Given the description of an element on the screen output the (x, y) to click on. 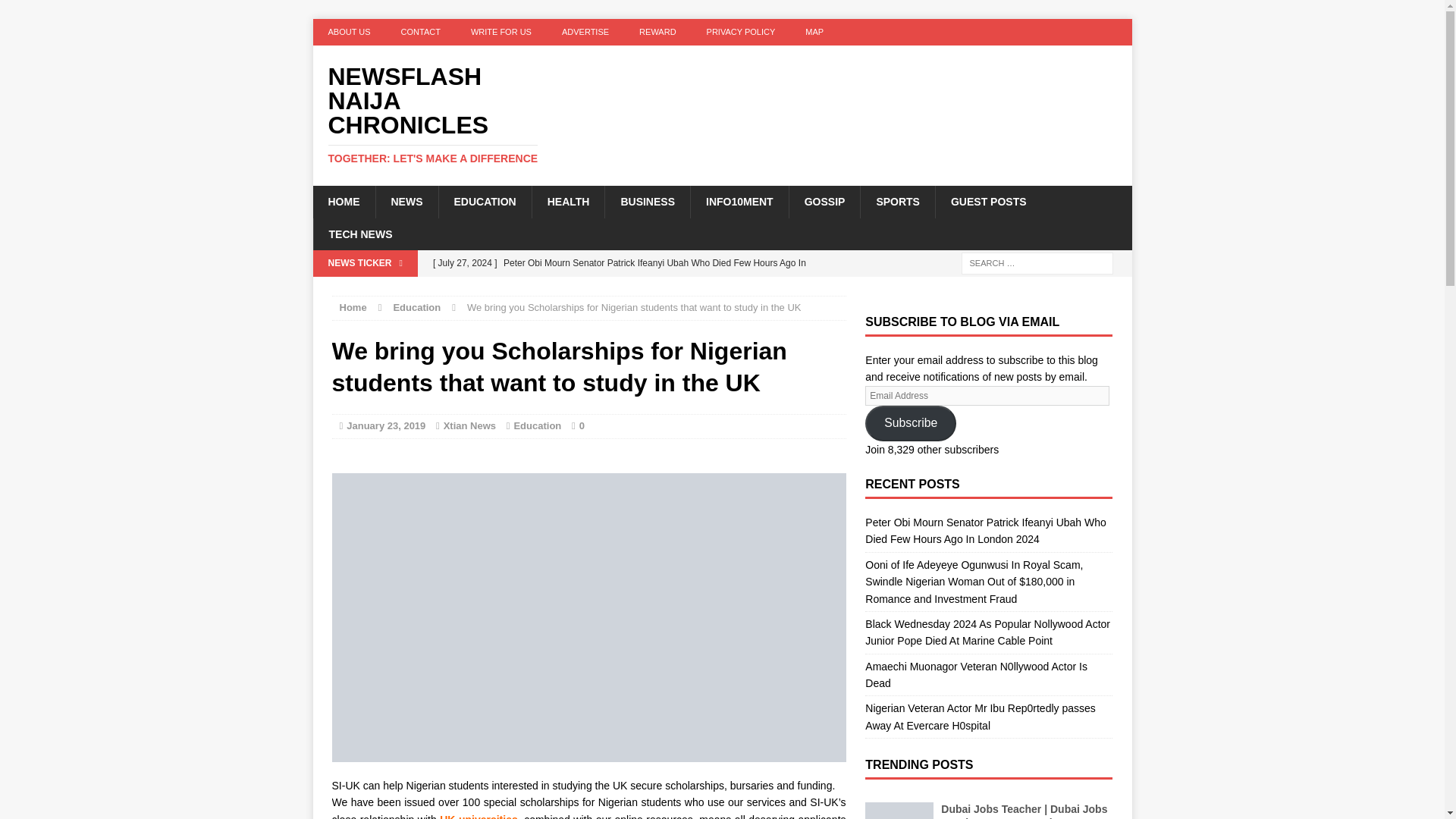
0 (582, 425)
HOME (343, 201)
INFO10MENT (739, 201)
HEALTH (568, 201)
GOSSIP (824, 201)
Xtian News (470, 425)
TECH NEWS (360, 234)
WRITE FOR US (501, 31)
Education (417, 307)
GUEST POSTS (988, 201)
January 23, 2019 (385, 425)
REWARD (657, 31)
ABOUT US (349, 31)
